Given the description of an element on the screen output the (x, y) to click on. 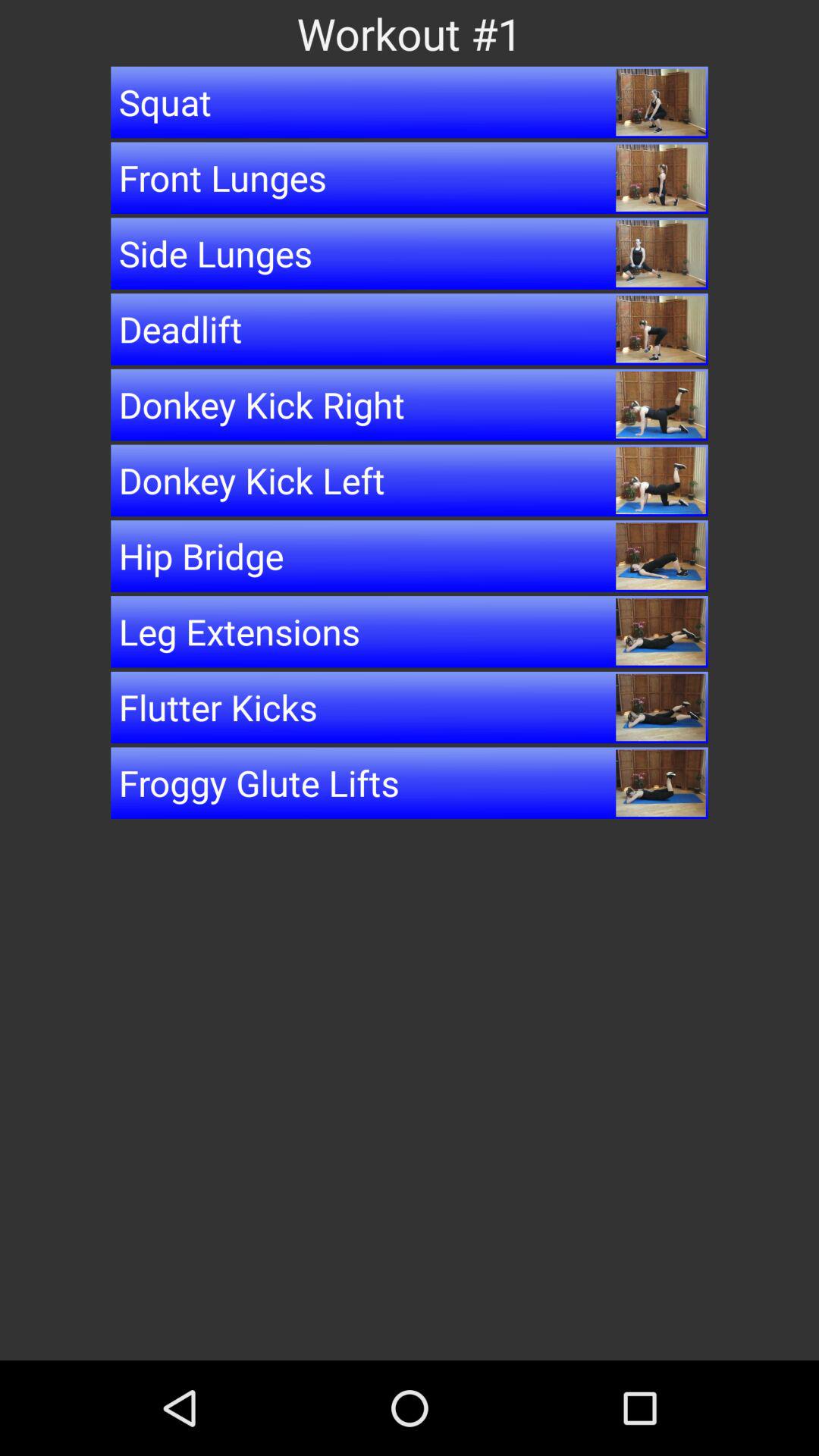
tap the button above the deadlift (409, 253)
